Given the description of an element on the screen output the (x, y) to click on. 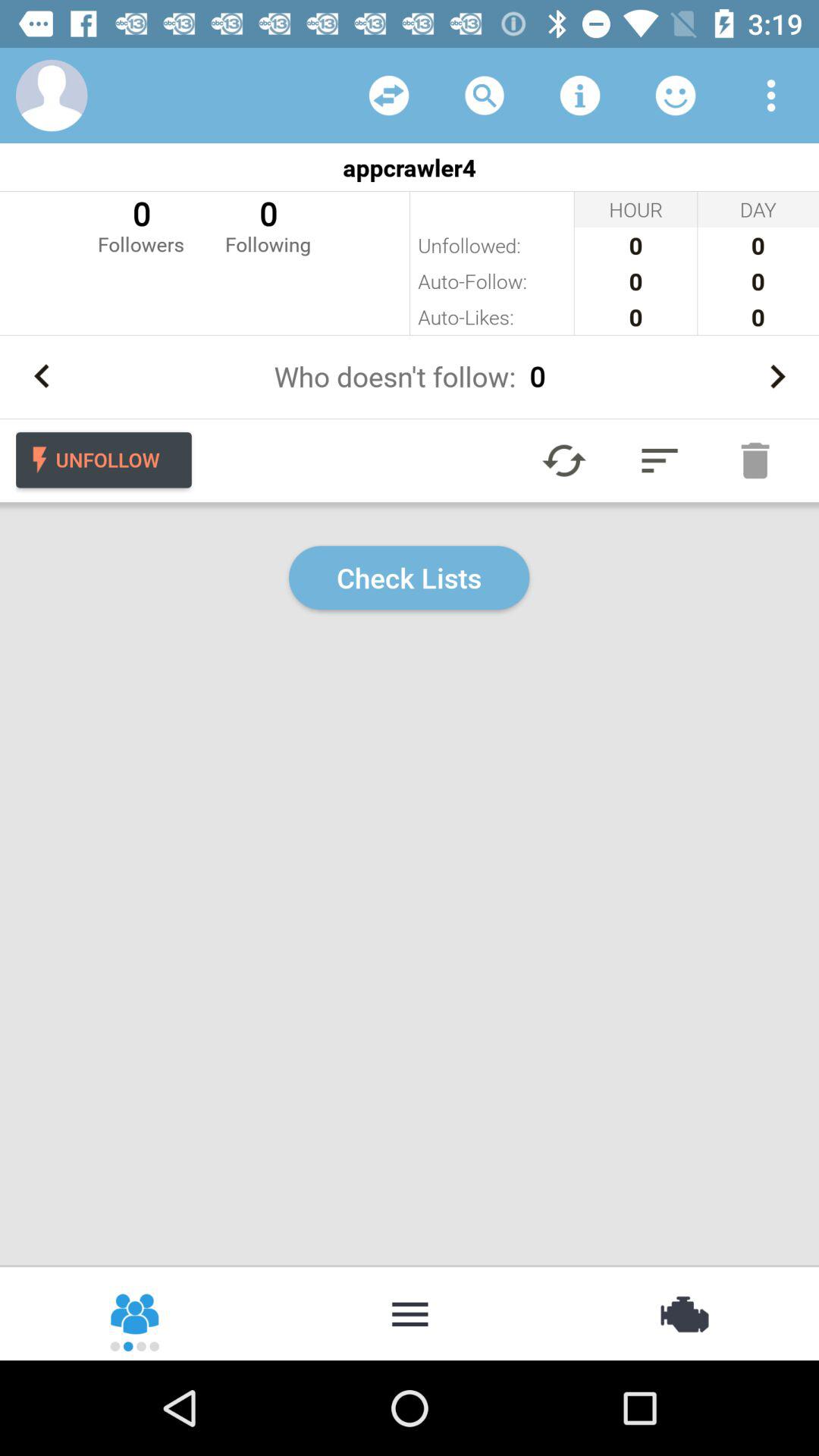
settings (771, 95)
